Given the description of an element on the screen output the (x, y) to click on. 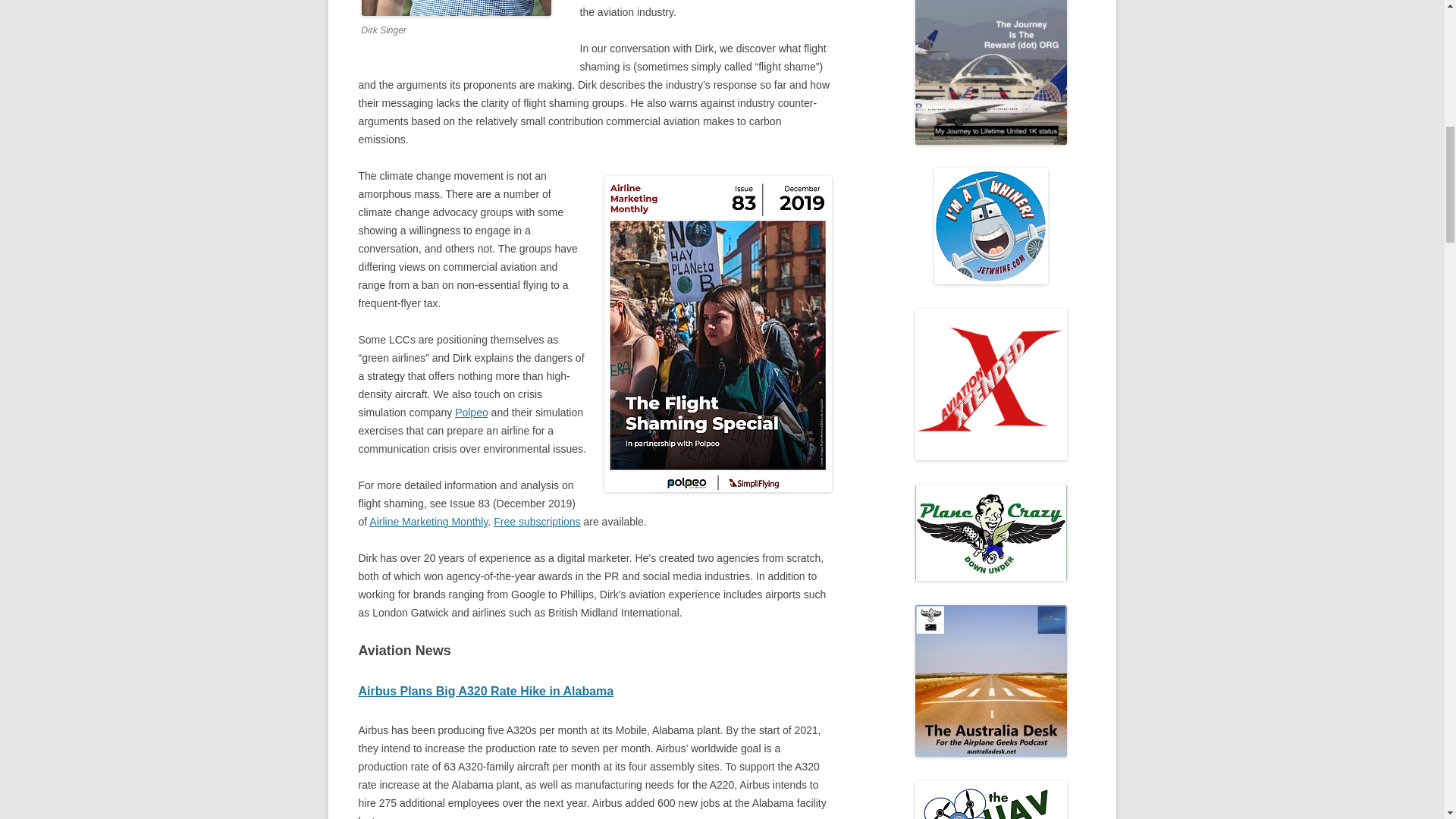
Airbus Plans Big A320 Rate Hike in Alabama (485, 690)
Airline Marketing Monthly (428, 521)
Polpeo (470, 412)
Free subscriptions (536, 521)
